Given the description of an element on the screen output the (x, y) to click on. 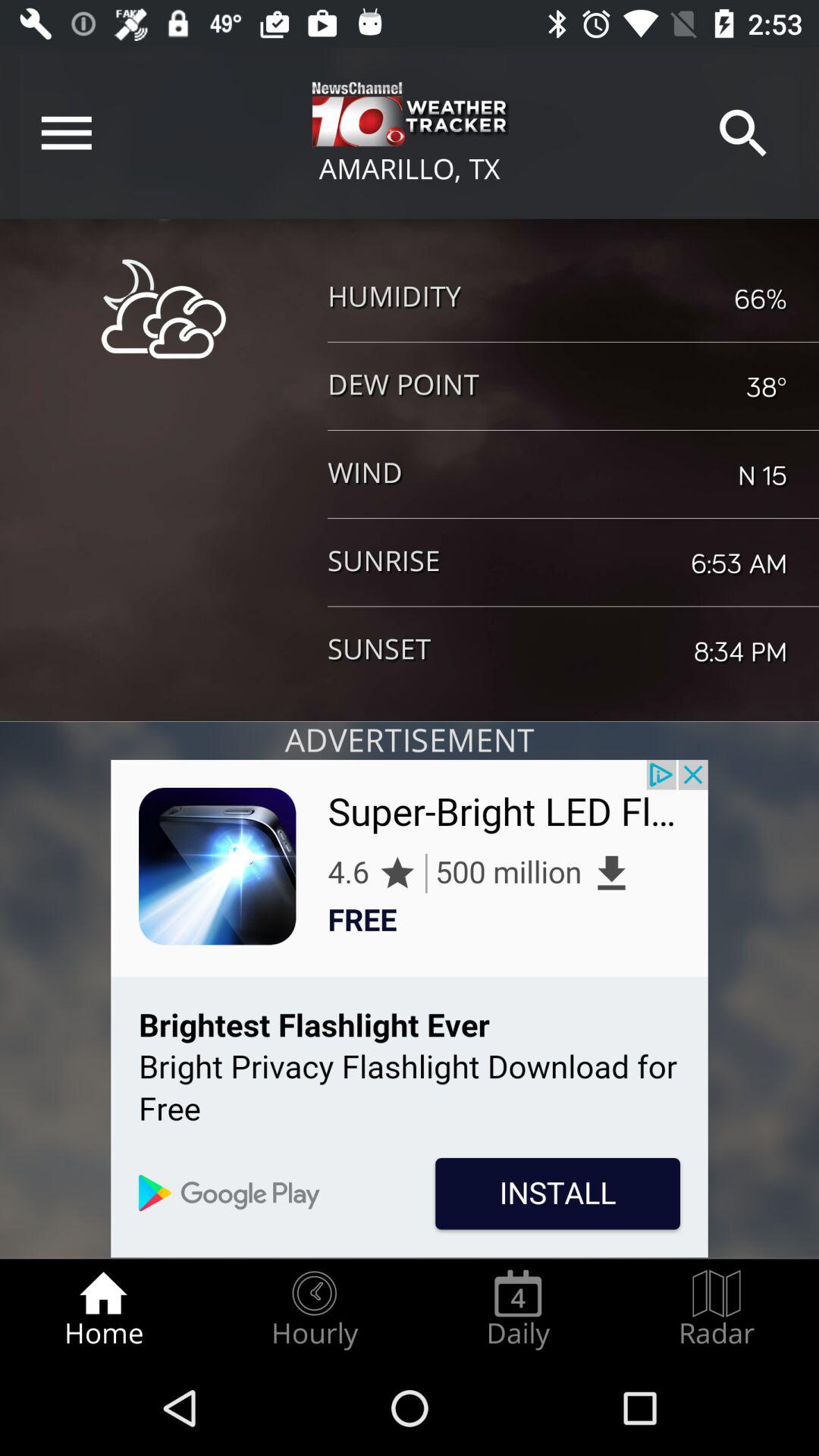
jump to the daily icon (518, 1309)
